Given the description of an element on the screen output the (x, y) to click on. 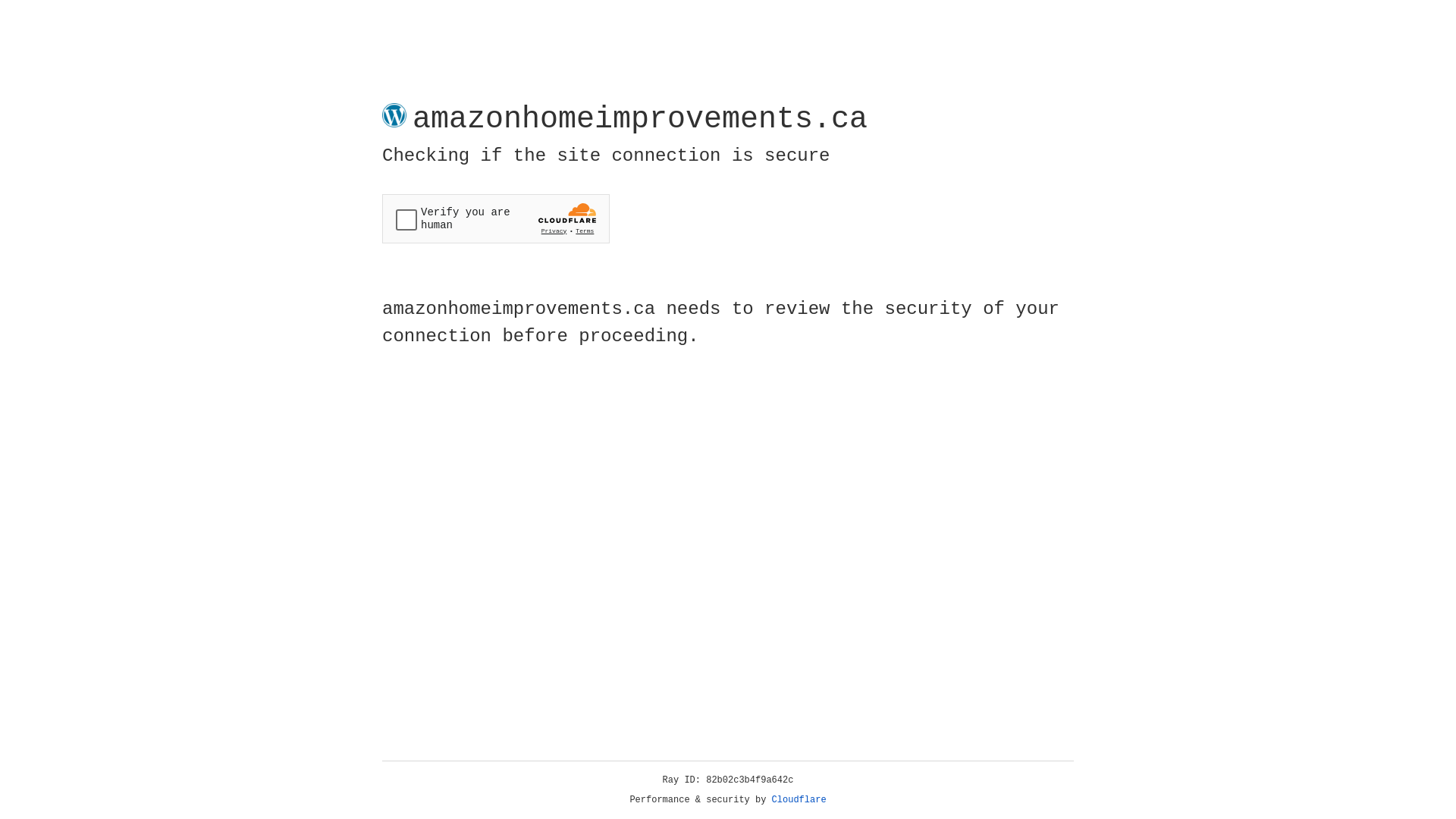
Cloudflare Element type: text (798, 799)
Widget containing a Cloudflare security challenge Element type: hover (495, 218)
